Given the description of an element on the screen output the (x, y) to click on. 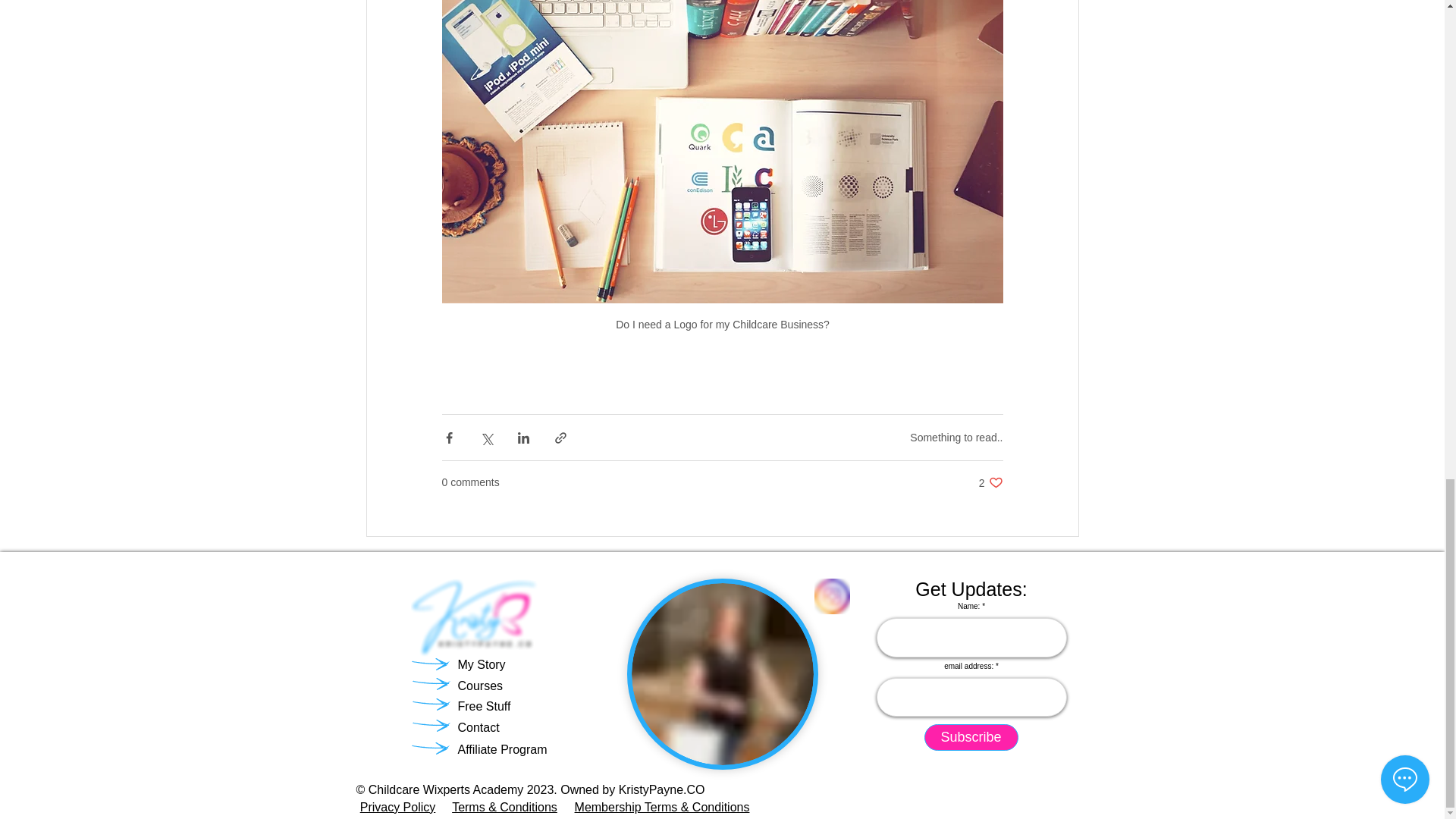
Subscribe (970, 737)
Privacy Policy (397, 807)
Something to read.. (956, 437)
Affiliate Program (502, 748)
